Given the description of an element on the screen output the (x, y) to click on. 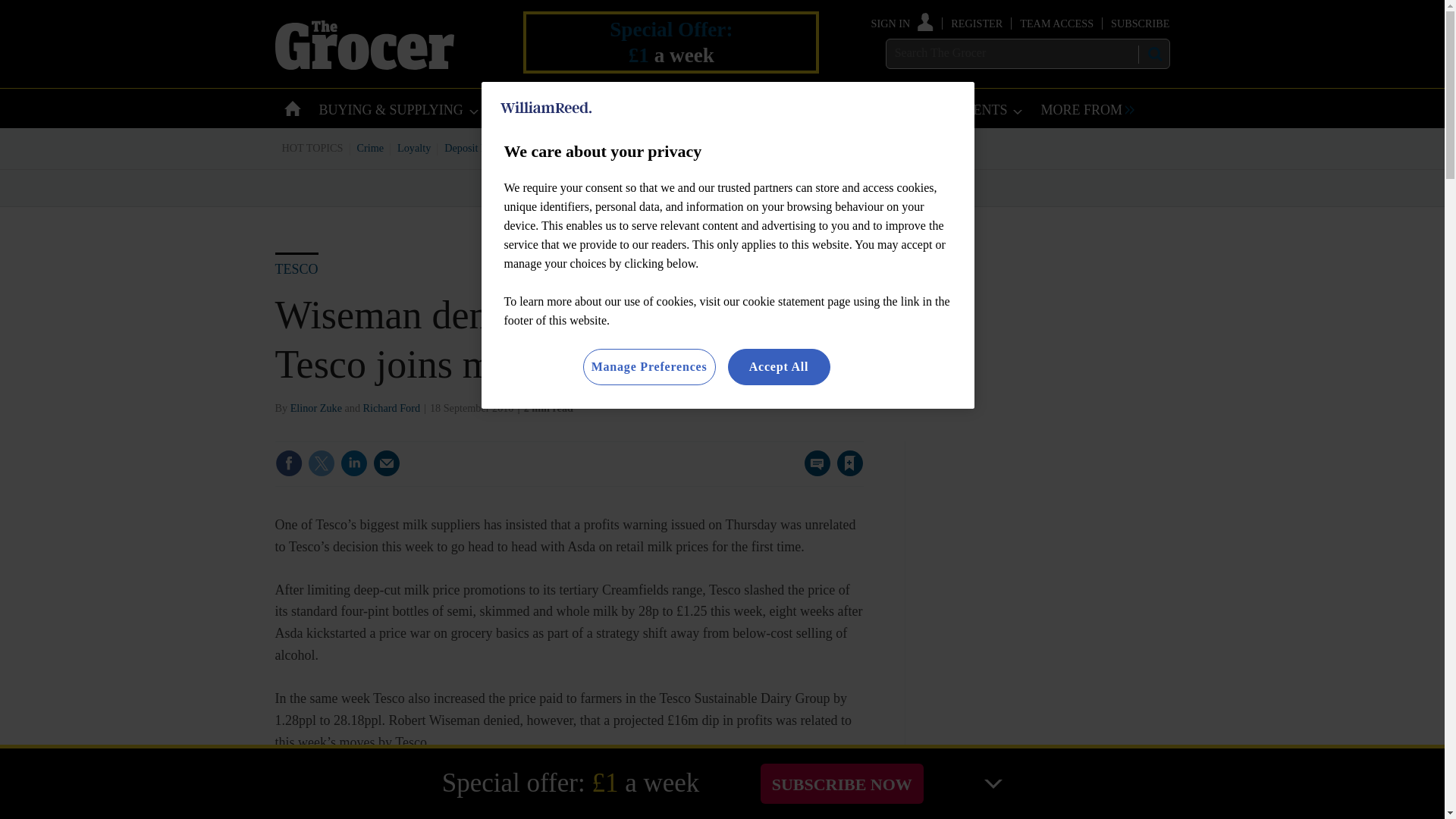
SUBSCRIBE (1139, 23)
Share this on Facebook (288, 462)
Share this on Linked in (352, 462)
William Reed (545, 107)
REGISTER (976, 23)
Site name (363, 65)
KVI price tracker (602, 147)
SUBSCRIBE NOW (841, 783)
Loyalty (414, 147)
Crime (370, 147)
